Given the description of an element on the screen output the (x, y) to click on. 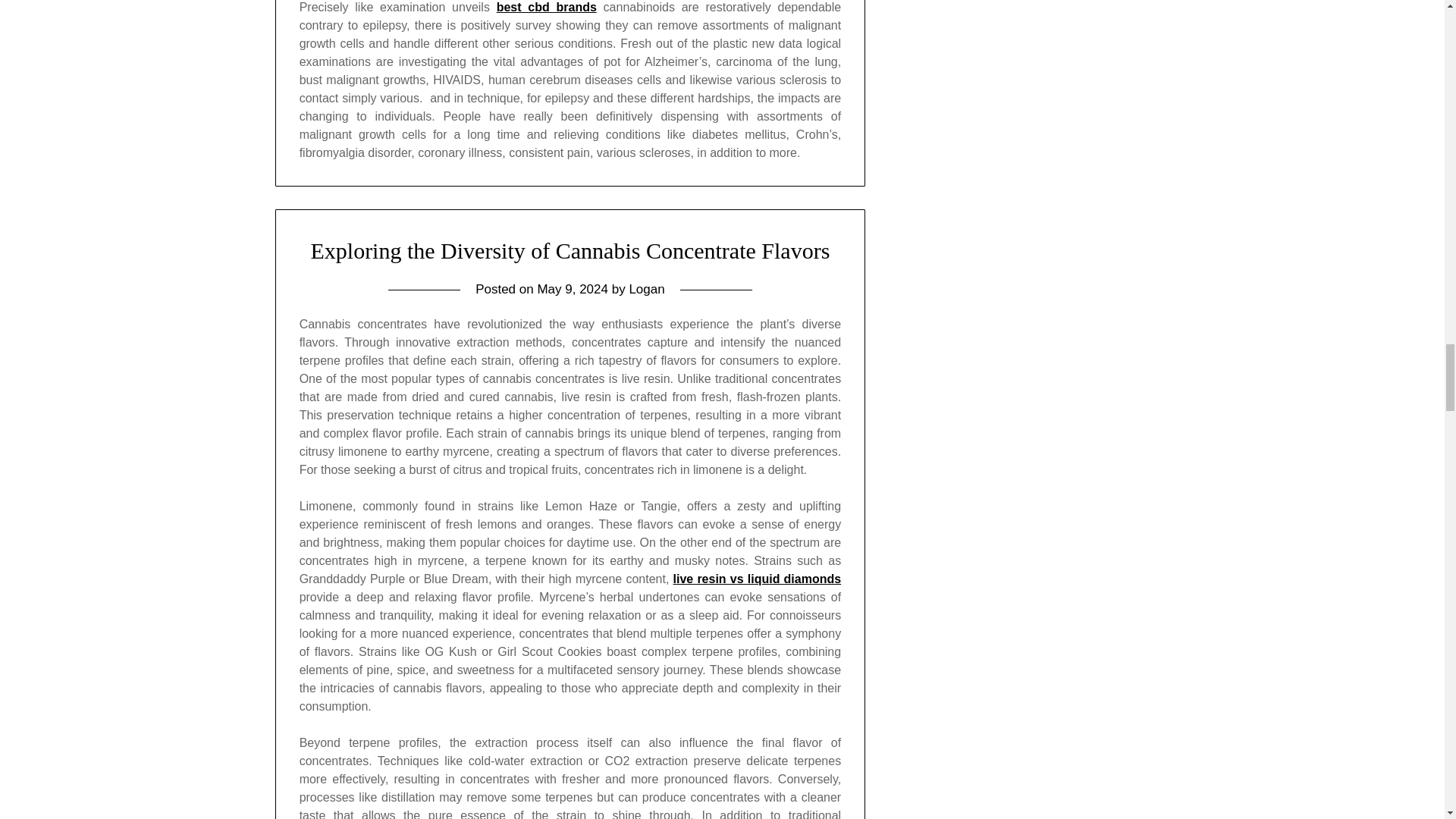
Logan (645, 288)
live resin vs liquid diamonds (756, 578)
Exploring the Diversity of Cannabis Concentrate Flavors (569, 250)
best cbd brands (546, 6)
May 9, 2024 (572, 288)
